Given the description of an element on the screen output the (x, y) to click on. 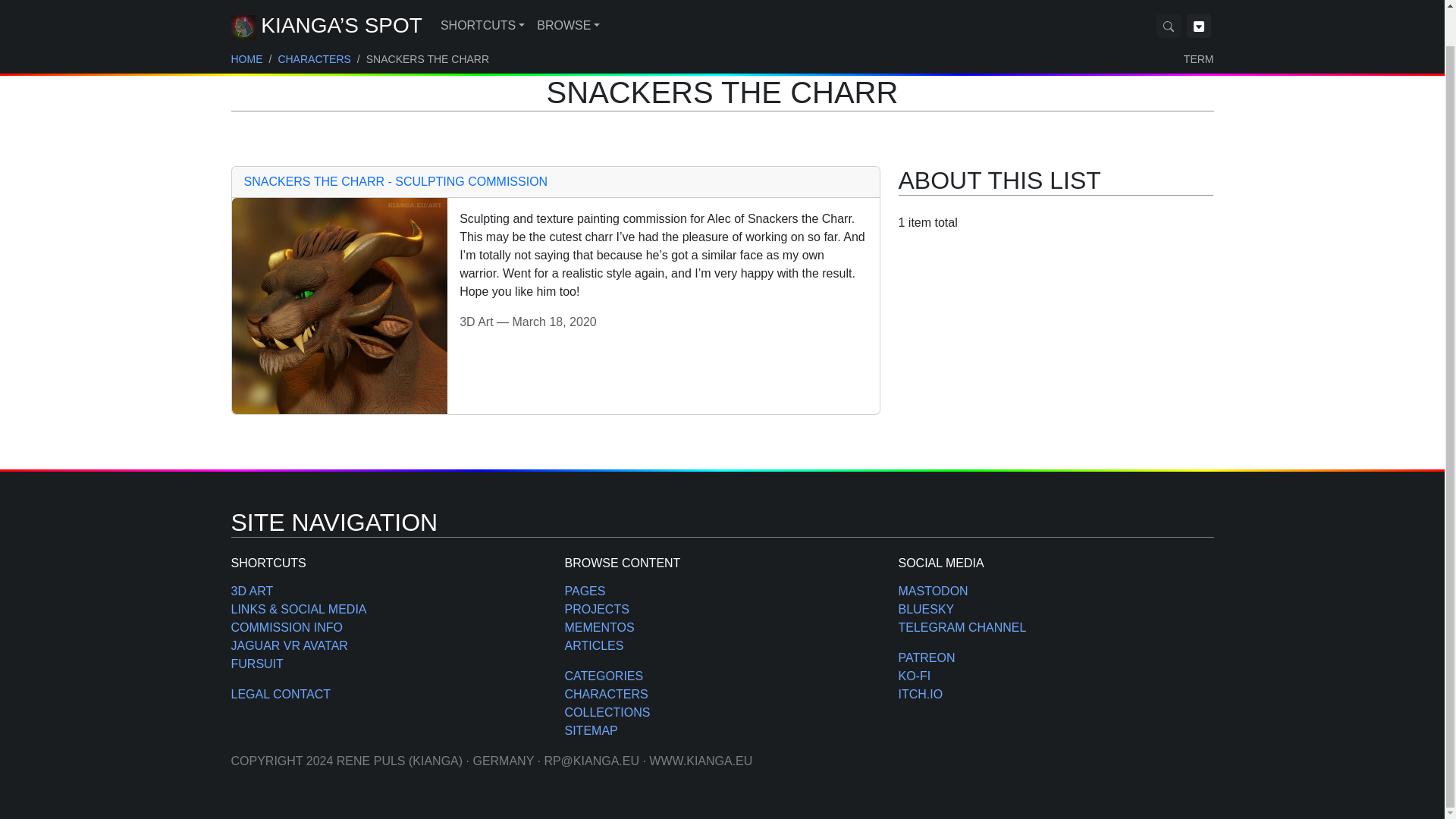
HOME (246, 21)
SHORTCUTS (482, 1)
LEGAL CONTACT (280, 694)
PROJECTS (596, 608)
3D ART (251, 590)
BROWSE (568, 1)
JAGUAR VR AVATAR (288, 645)
FURSUIT (256, 663)
SNACKERS THE CHARR - SCULPTING COMMISSION (396, 181)
MEMENTOS (598, 626)
